Given the description of an element on the screen output the (x, y) to click on. 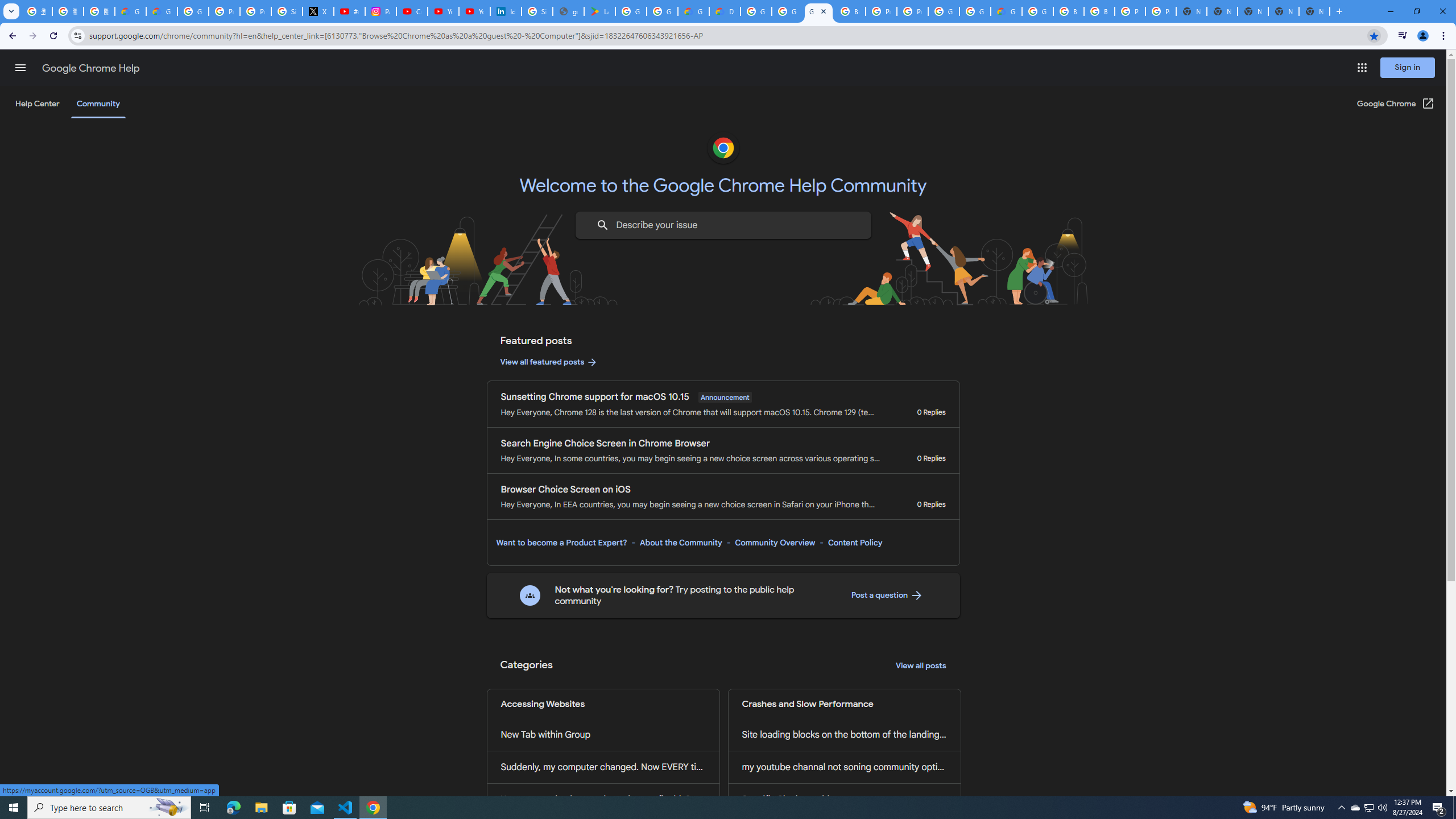
Describe your issue to find information that might help you. (722, 225)
Last Shelter: Survival - Apps on Google Play (599, 11)
Privacy Help Center - Policies Help (255, 11)
Content Policy (854, 542)
